Given the description of an element on the screen output the (x, y) to click on. 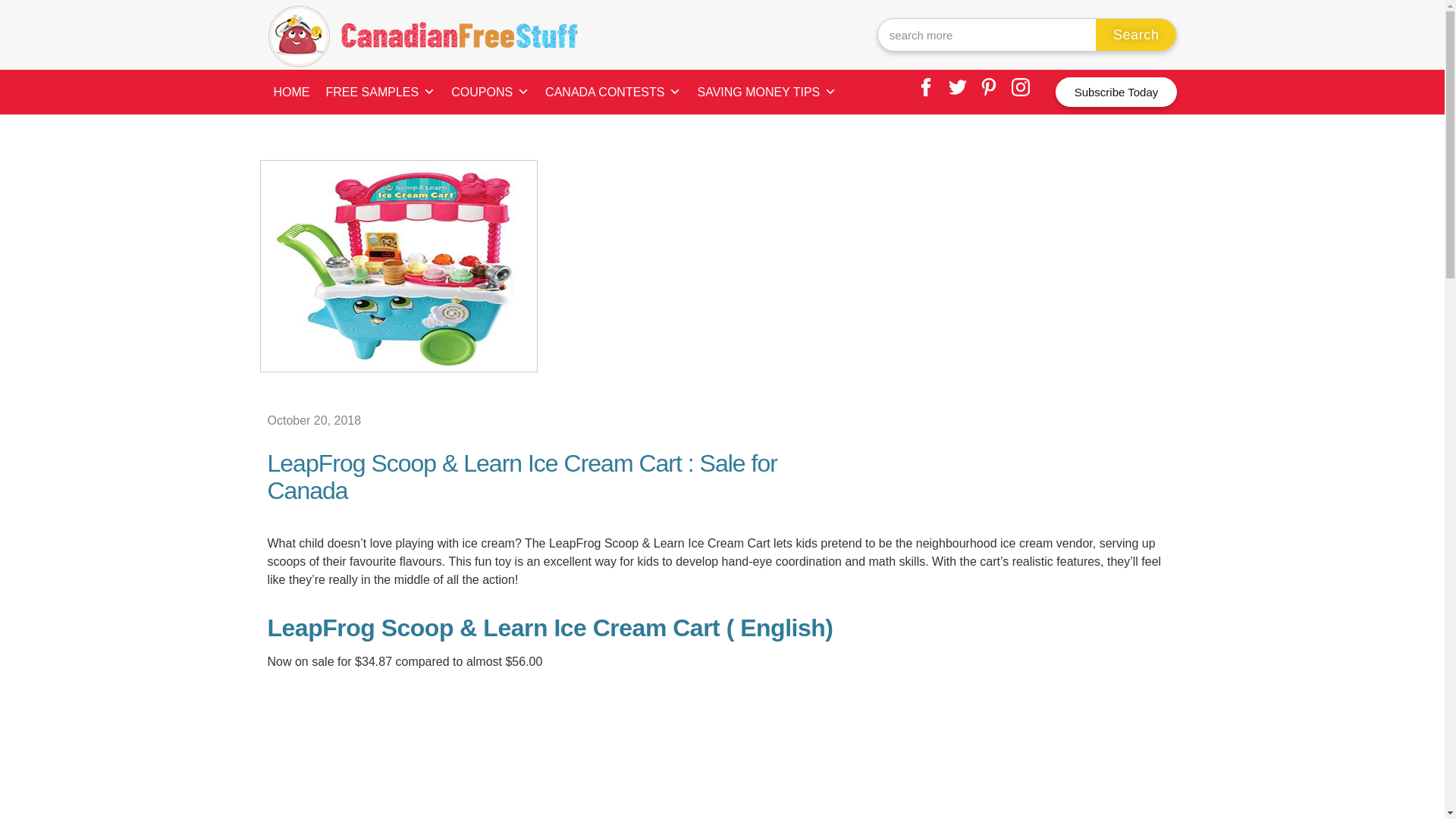
SAVING MONEY TIPS (766, 91)
CANADA CONTESTS (612, 91)
HOME (290, 91)
Advertisement (721, 752)
COUPONS (490, 91)
Search (1136, 34)
FREE SAMPLES (381, 91)
